Given the description of an element on the screen output the (x, y) to click on. 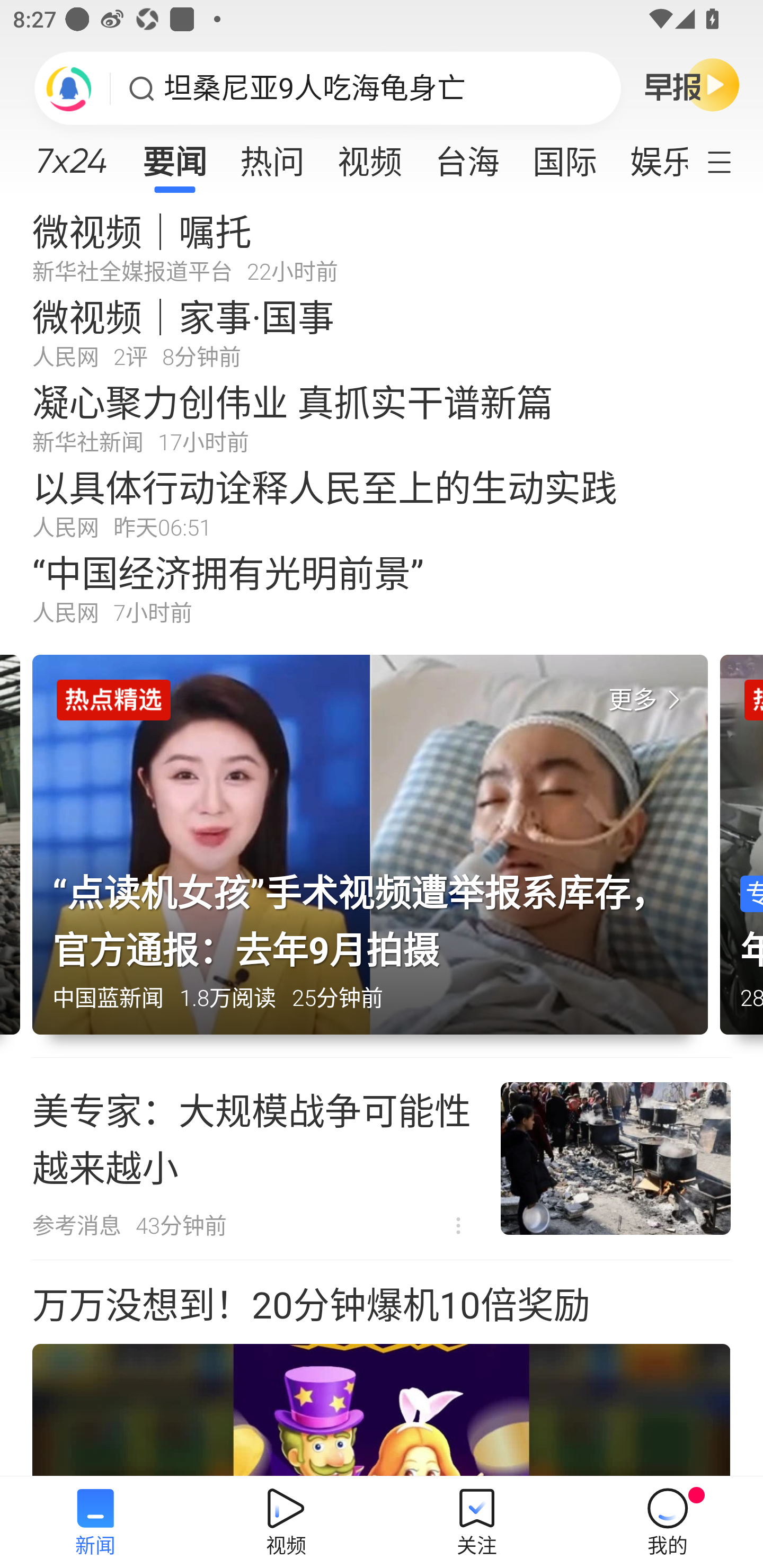
早晚报 (691, 84)
刷新 (68, 88)
坦桑尼亚9人吃海龟身亡 (314, 88)
7x24 (70, 154)
要闻 (174, 155)
热问 (272, 155)
视频 (369, 155)
台海 (466, 155)
国际 (564, 155)
娱乐 (650, 155)
 定制频道 (731, 160)
微视频｜嘱托 新华社全媒报道平台 22小时前 (381, 245)
微视频｜家事·国事 人民网 2评 8分钟前 (381, 331)
凝心聚力创伟业 真抓实干谱新篇 新华社新闻 17小时前 (381, 416)
以具体行动诠释人民至上的生动实践 人民网 昨天06:51 (381, 502)
“中国经济拥有光明前景” 人民网 7小时前 (381, 587)
更多  (648, 699)
美专家：大规模战争可能性越来越小 参考消息 43分钟前  不感兴趣 (381, 1158)
 不感兴趣 (458, 1226)
万万没想到！20分钟爆机10倍奖励 (381, 1368)
